Given the description of an element on the screen output the (x, y) to click on. 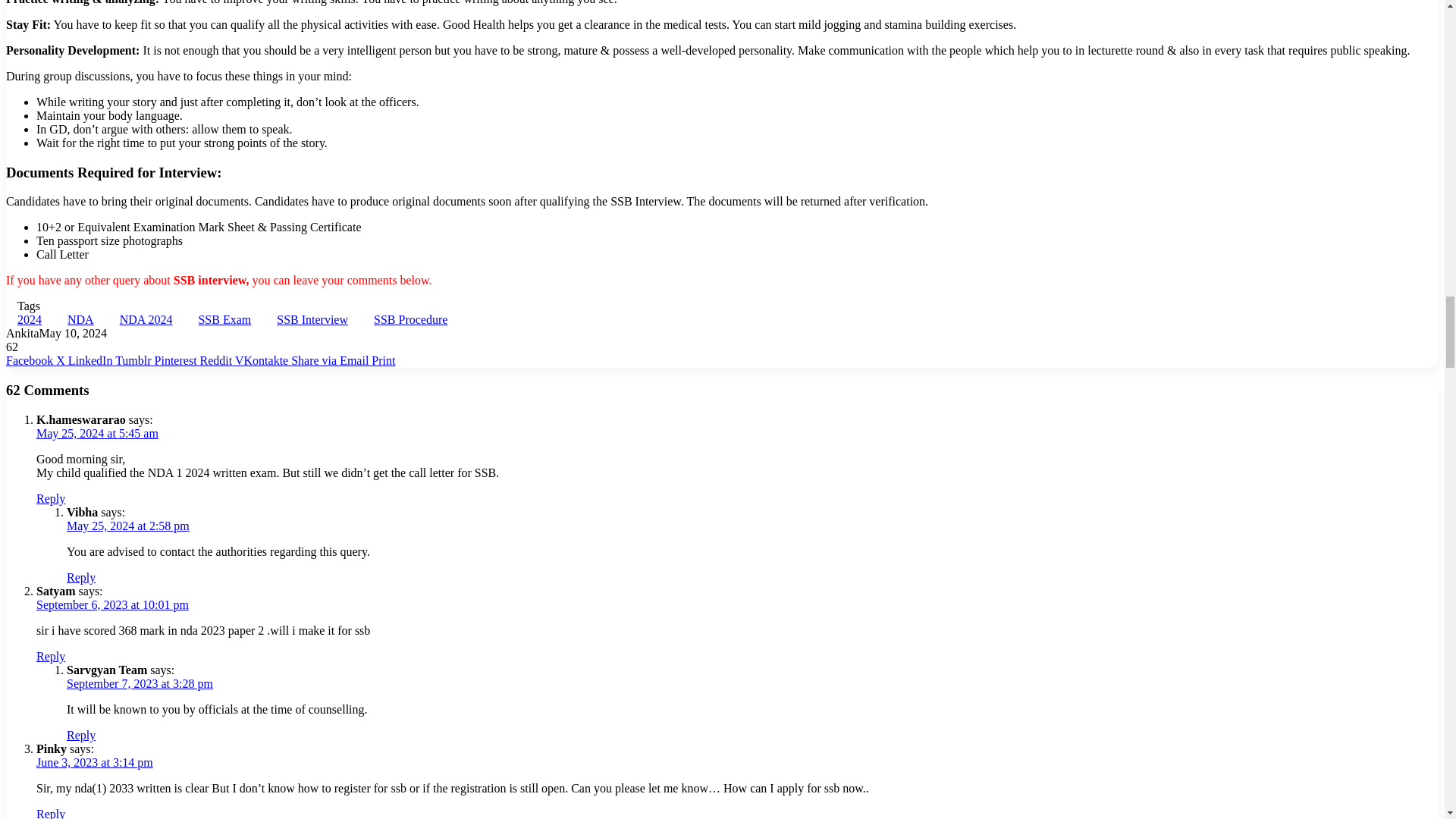
Pinterest (177, 359)
Share via Email (331, 359)
SSB Interview (311, 318)
SSB Exam (224, 318)
X (62, 359)
NDA (80, 318)
Print (382, 359)
Tumblr (134, 359)
SSB Procedure (410, 318)
Reddit (217, 359)
X (62, 359)
May 25, 2024 at 5:45 am (97, 432)
Pinterest (177, 359)
VKontakte (262, 359)
Share via Email (331, 359)
